Given the description of an element on the screen output the (x, y) to click on. 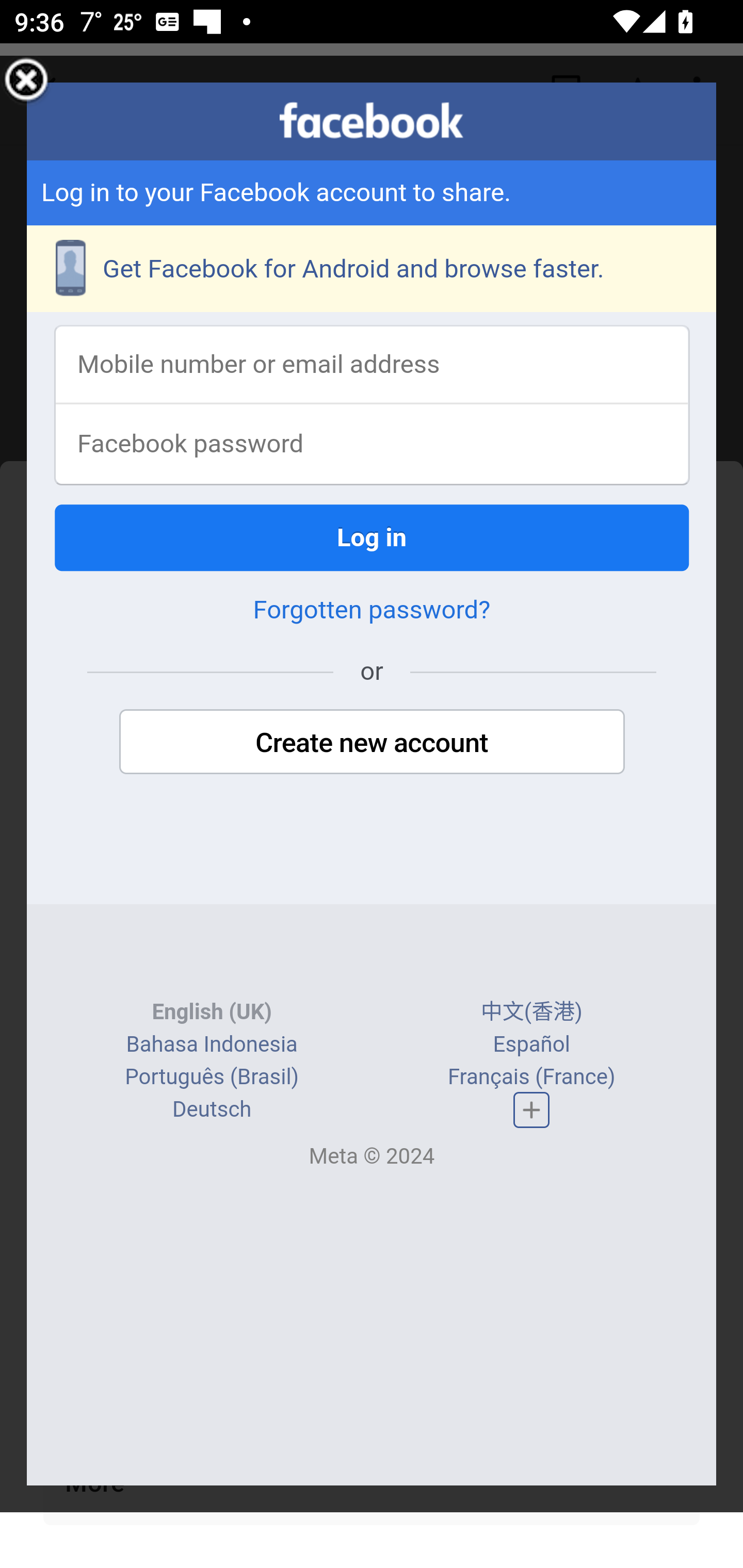
facebook (372, 121)
Get Facebook for Android and browse faster. (372, 270)
Log in (372, 538)
Forgotten password? (371, 611)
Create new account (371, 743)
中文(香港) (531, 1013)
Bahasa Indonesia (210, 1044)
Español (530, 1044)
Português (Brasil) (211, 1077)
Français (France) (530, 1077)
Complete list of languages (531, 1110)
Deutsch (211, 1110)
